Given the description of an element on the screen output the (x, y) to click on. 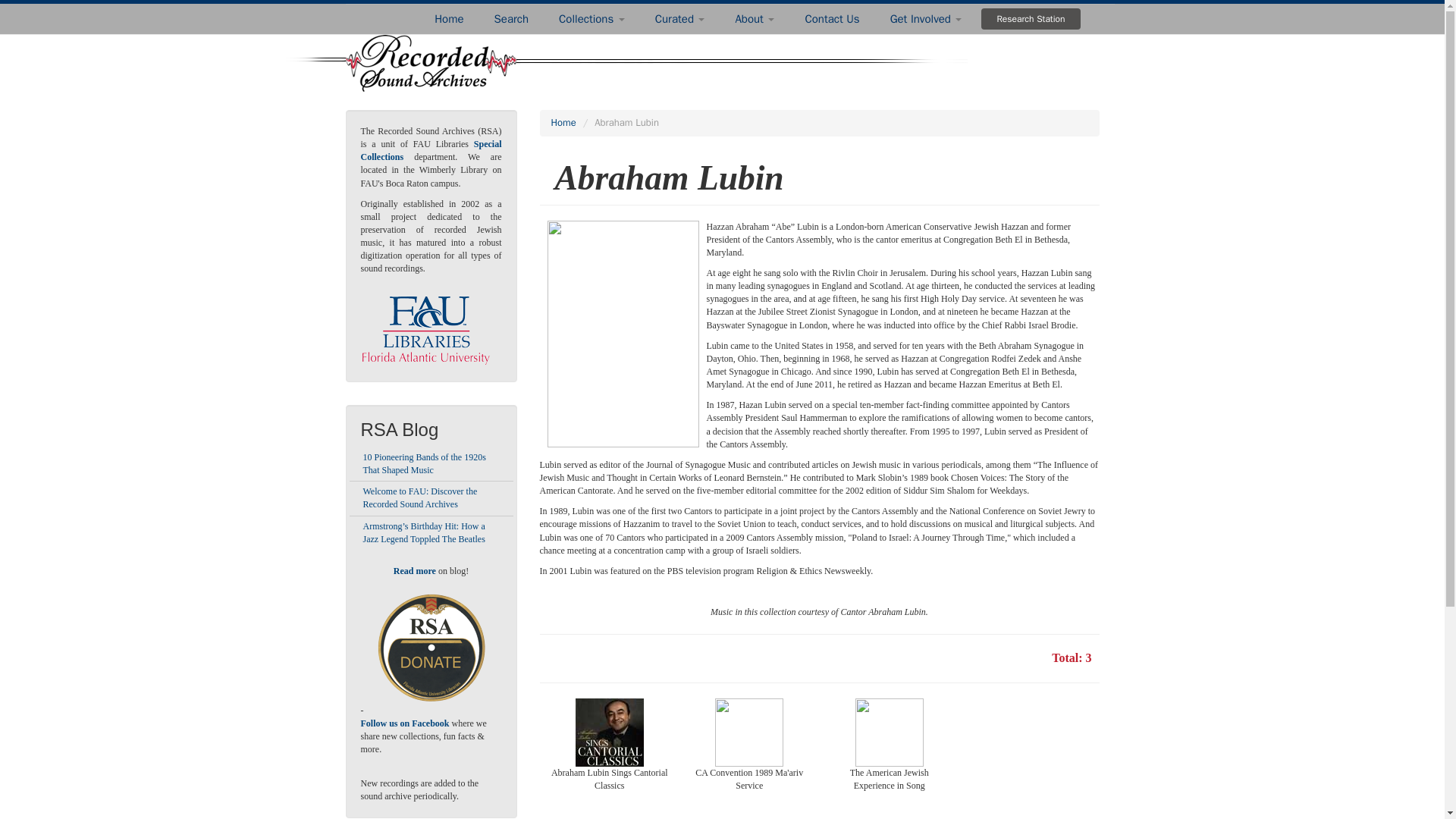
Follow us on Facebook (405, 723)
Search (511, 19)
Research Station (1030, 18)
Special Collections (431, 150)
Curated (680, 19)
10 Pioneering Bands of the 1920s That Shaped Music (423, 463)
Contact Us (832, 19)
Home (449, 19)
Welcome to FAU: Discover the Recorded Sound Archives (419, 497)
Home (562, 122)
